Given the description of an element on the screen output the (x, y) to click on. 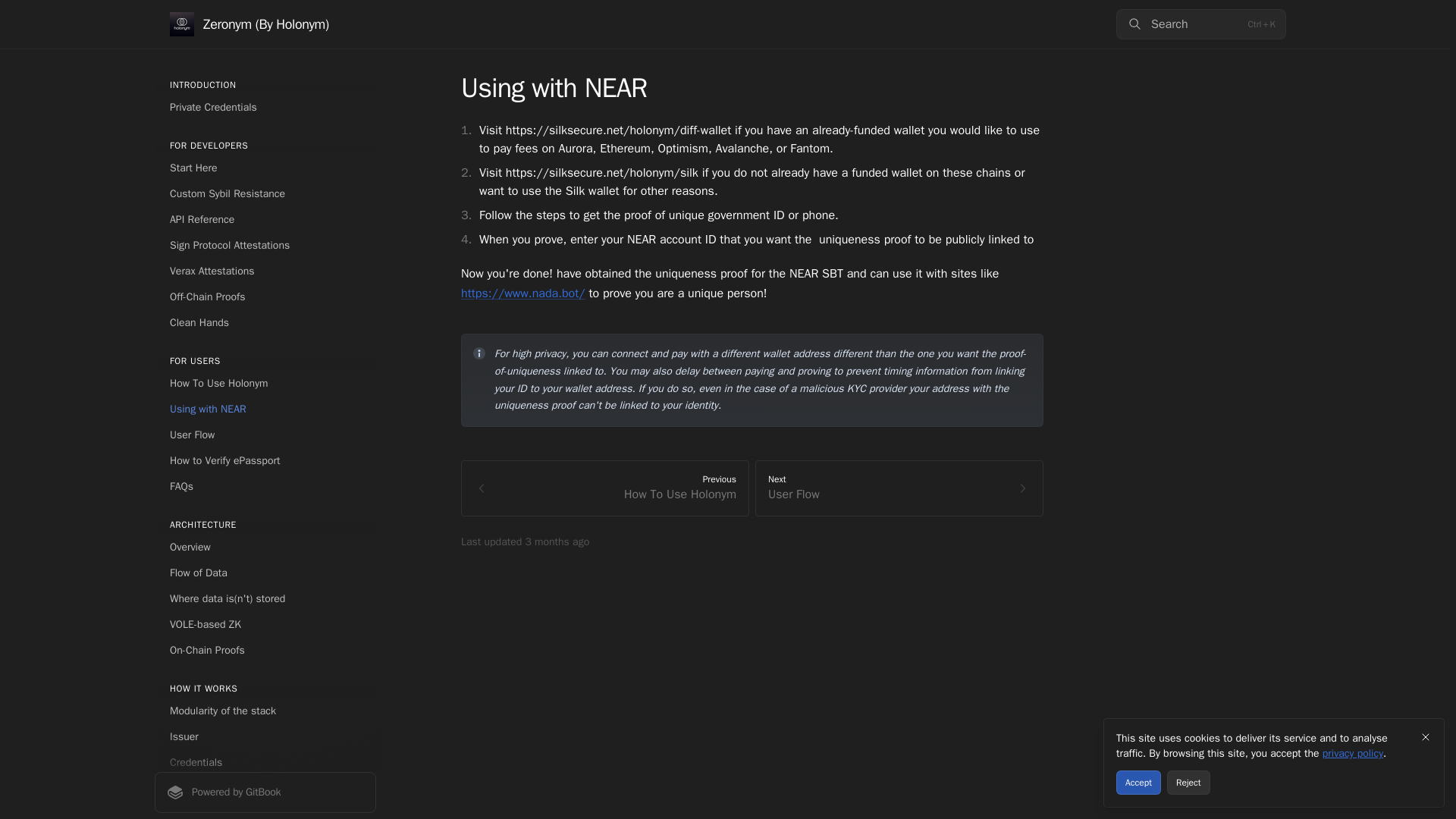
On-Chain Proofs (899, 488)
VOLE-based ZK (264, 650)
Verax Attestations (264, 624)
Credentials (264, 271)
Private Credentials (264, 762)
Powered by GitBook (264, 107)
Clean Hands (264, 792)
Modularity of the stack (264, 322)
How to Verify ePassport (264, 711)
Sign Protocol Attestations (264, 460)
Start Here (264, 245)
Overview (264, 168)
Hub (264, 547)
Reject (264, 788)
